Given the description of an element on the screen output the (x, y) to click on. 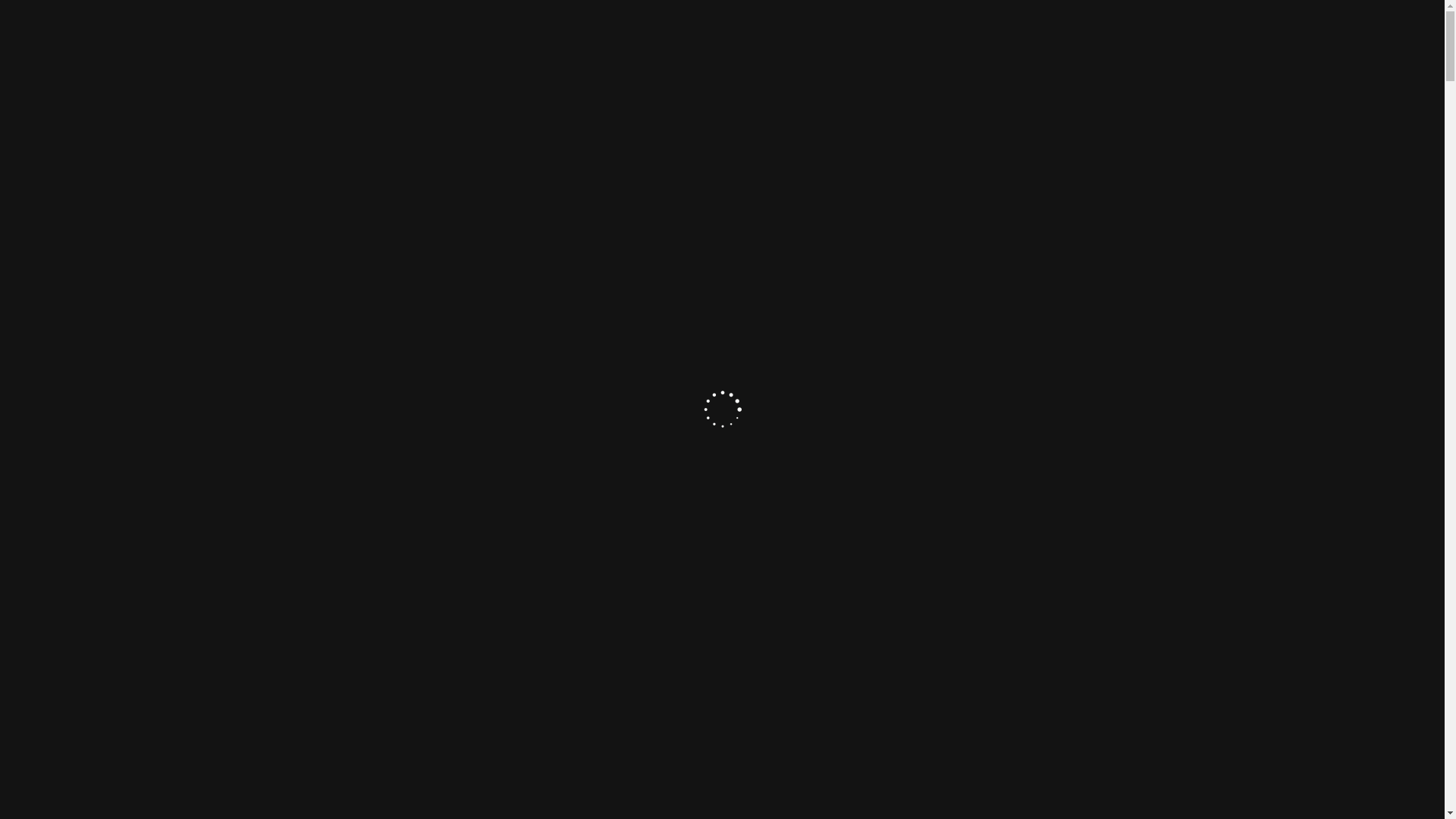
TEAM Element type: text (1020, 64)
HOME Element type: text (860, 64)
SERVICES Element type: text (964, 64)
CONTACT Element type: text (1124, 64)
ABOUT Element type: text (905, 64)
BLOG Element type: text (1071, 64)
WHAT WE DO Element type: text (722, 155)
